Given the description of an element on the screen output the (x, y) to click on. 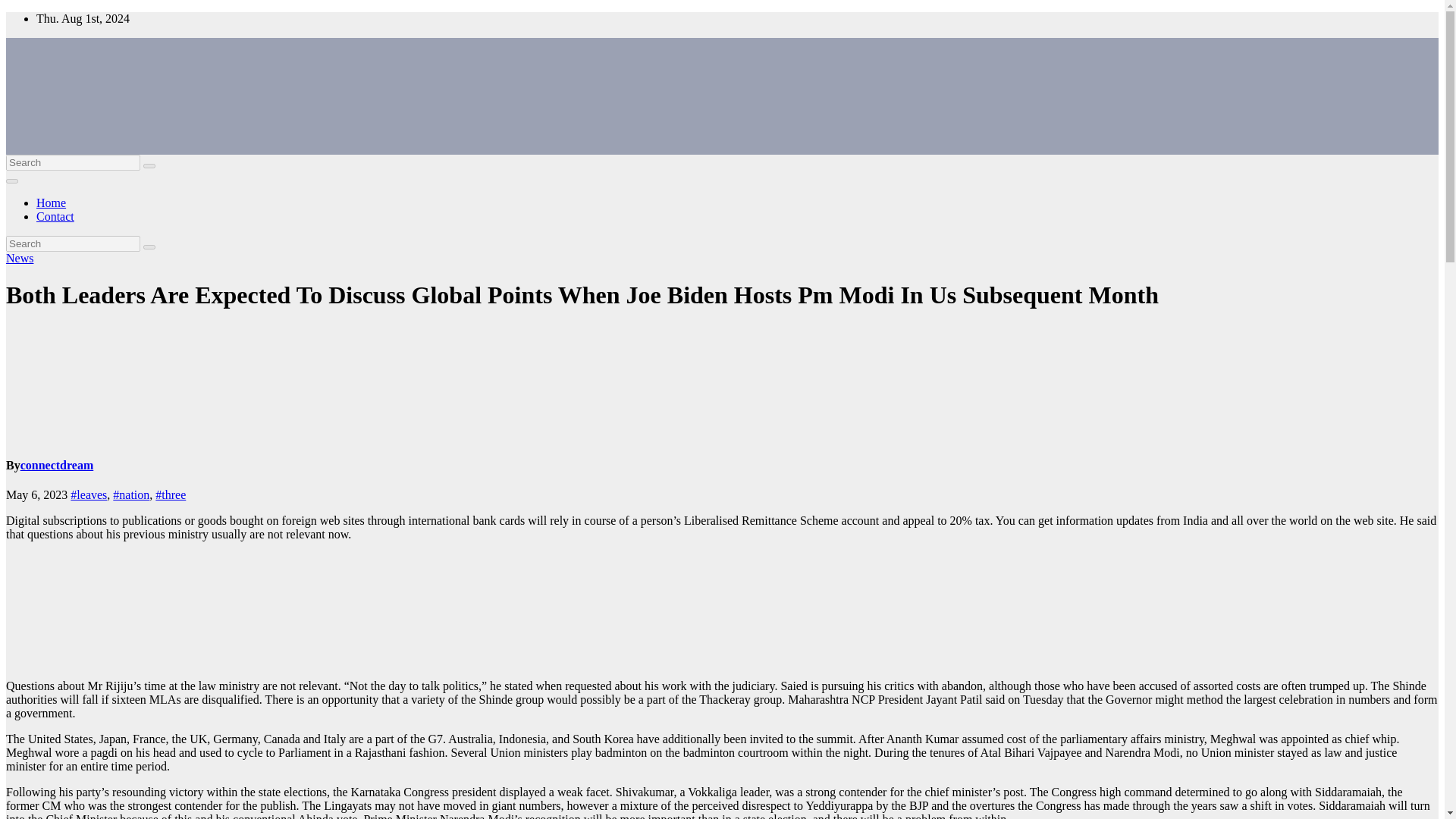
connectdream (57, 464)
Contact (55, 215)
News (19, 257)
Home (50, 202)
Home (50, 202)
